Given the description of an element on the screen output the (x, y) to click on. 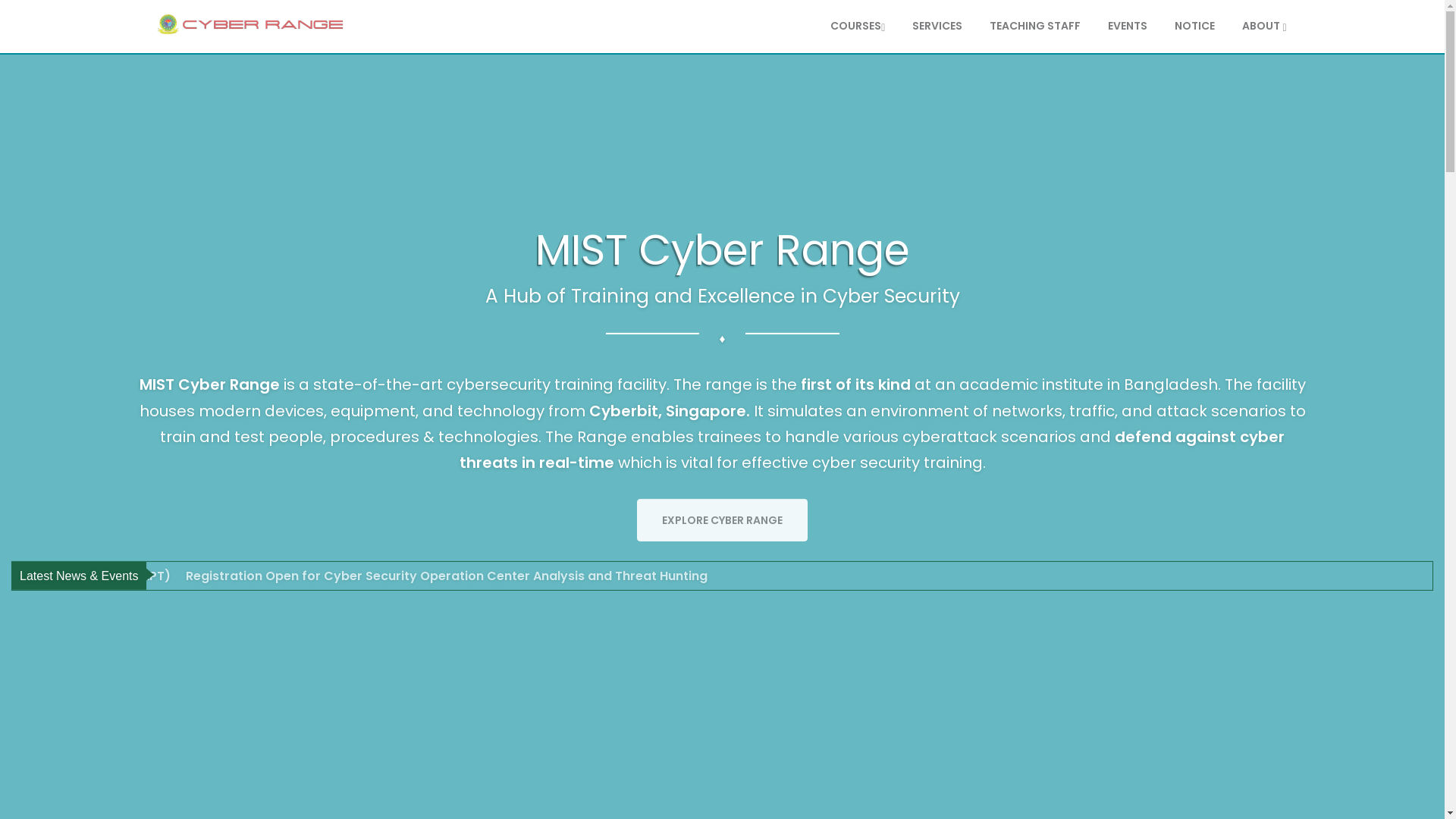
EXPLORE CYBER RANGE Element type: text (722, 519)
NOTICE Element type: text (1194, 25)
SERVICES Element type: text (936, 25)
COURSES Element type: text (857, 25)
ABOUT Element type: text (1263, 25)
TEACHING STAFF Element type: text (1035, 25)
EVENTS Element type: text (1127, 25)
